Given the description of an element on the screen output the (x, y) to click on. 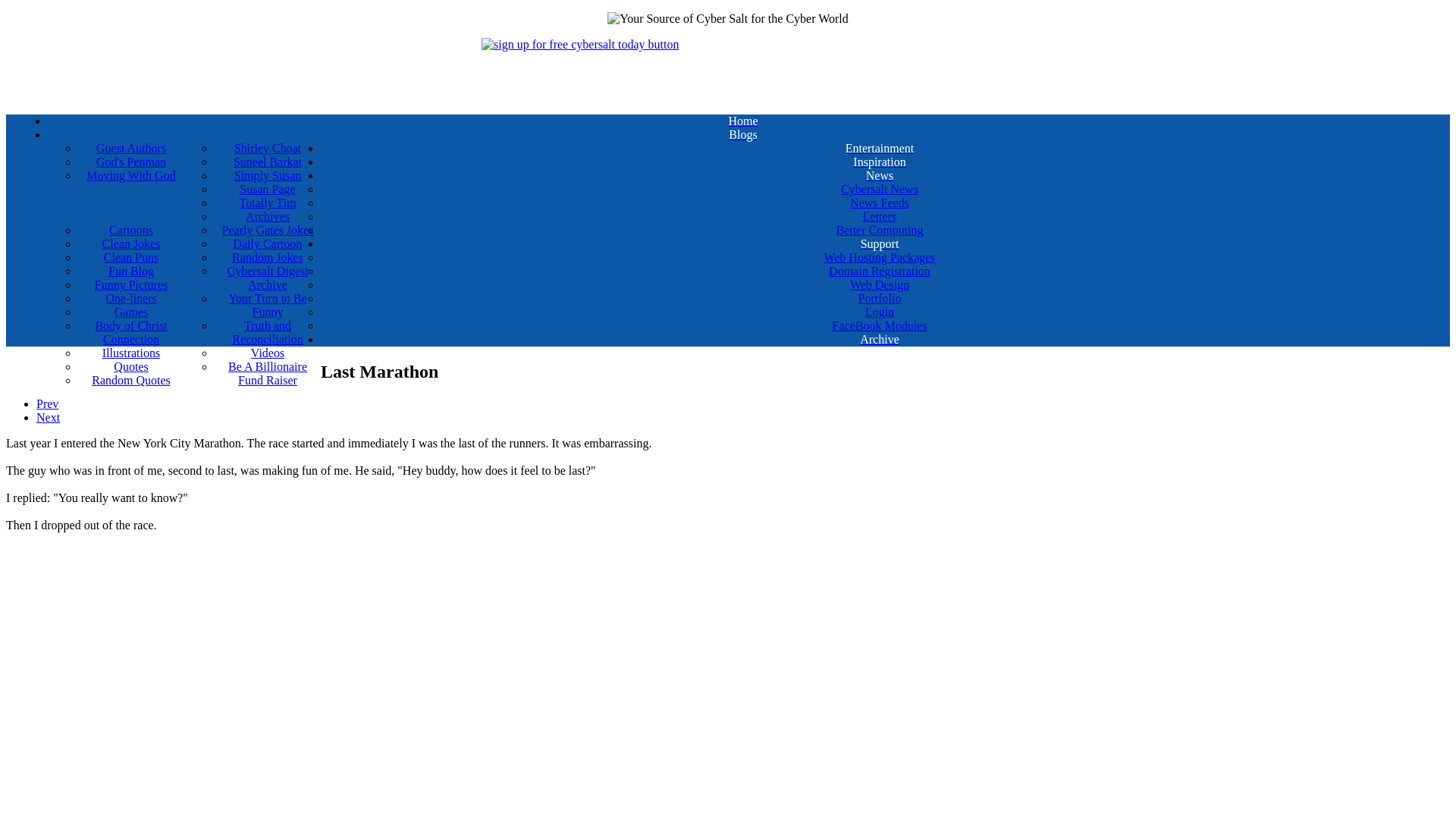
Daily Cartoon (267, 243)
Body of Christ Connection (131, 332)
Guest Authors (131, 148)
Truth and Reconciliation (267, 332)
Entertainment (879, 148)
Your Turn to Be Funny (267, 305)
Better Computing (879, 230)
Clean Jokes (131, 243)
Quotes (131, 366)
Be A Billionaire Fund Raiser (267, 373)
Cartoons (131, 230)
Fun Blog (131, 271)
Totally Tim (267, 202)
Random Quotes (131, 380)
